Given the description of an element on the screen output the (x, y) to click on. 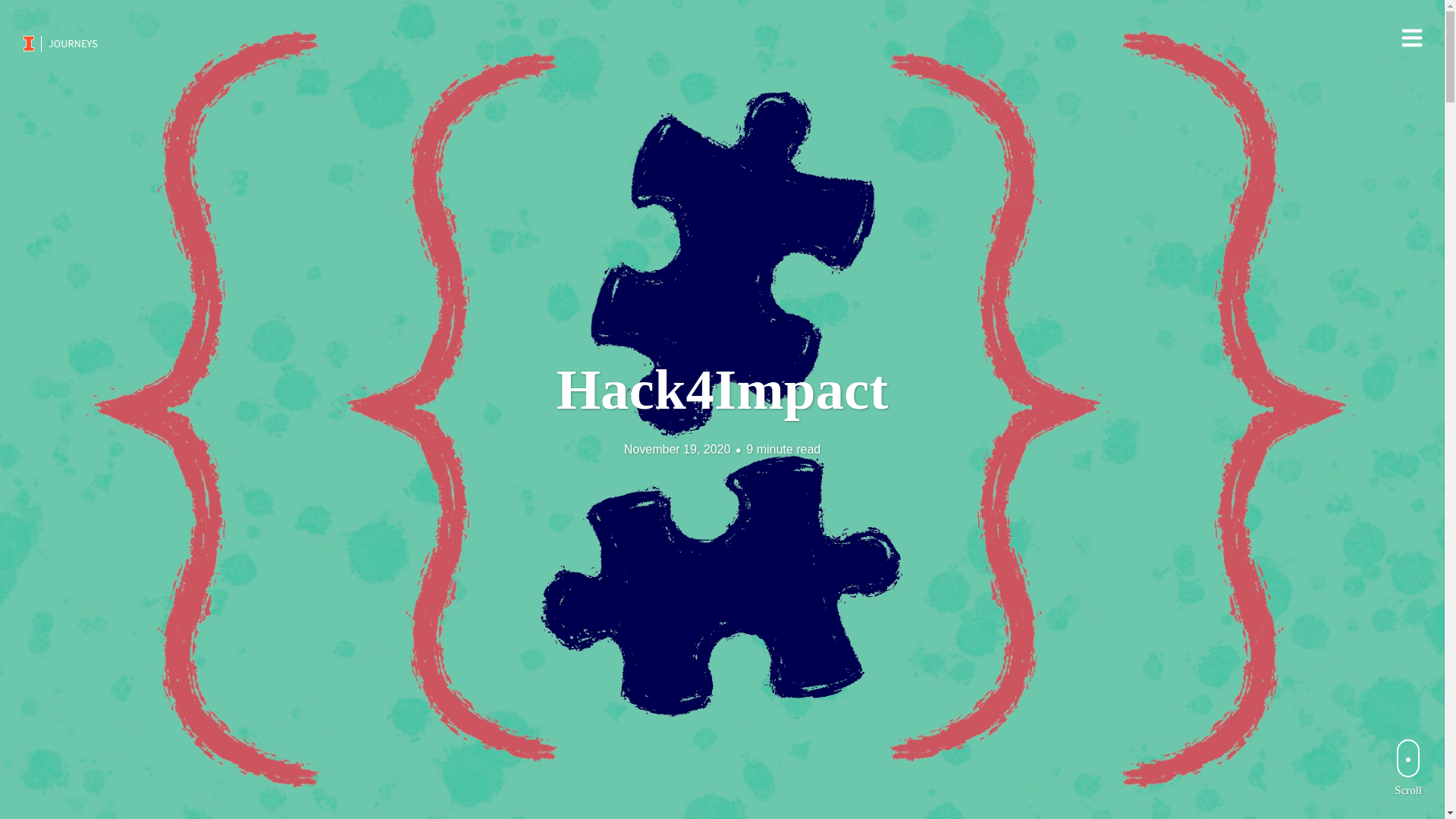
Scroll (1408, 767)
6:17 pm (677, 449)
Home (61, 42)
November 19, 2020 (677, 449)
